Given the description of an element on the screen output the (x, y) to click on. 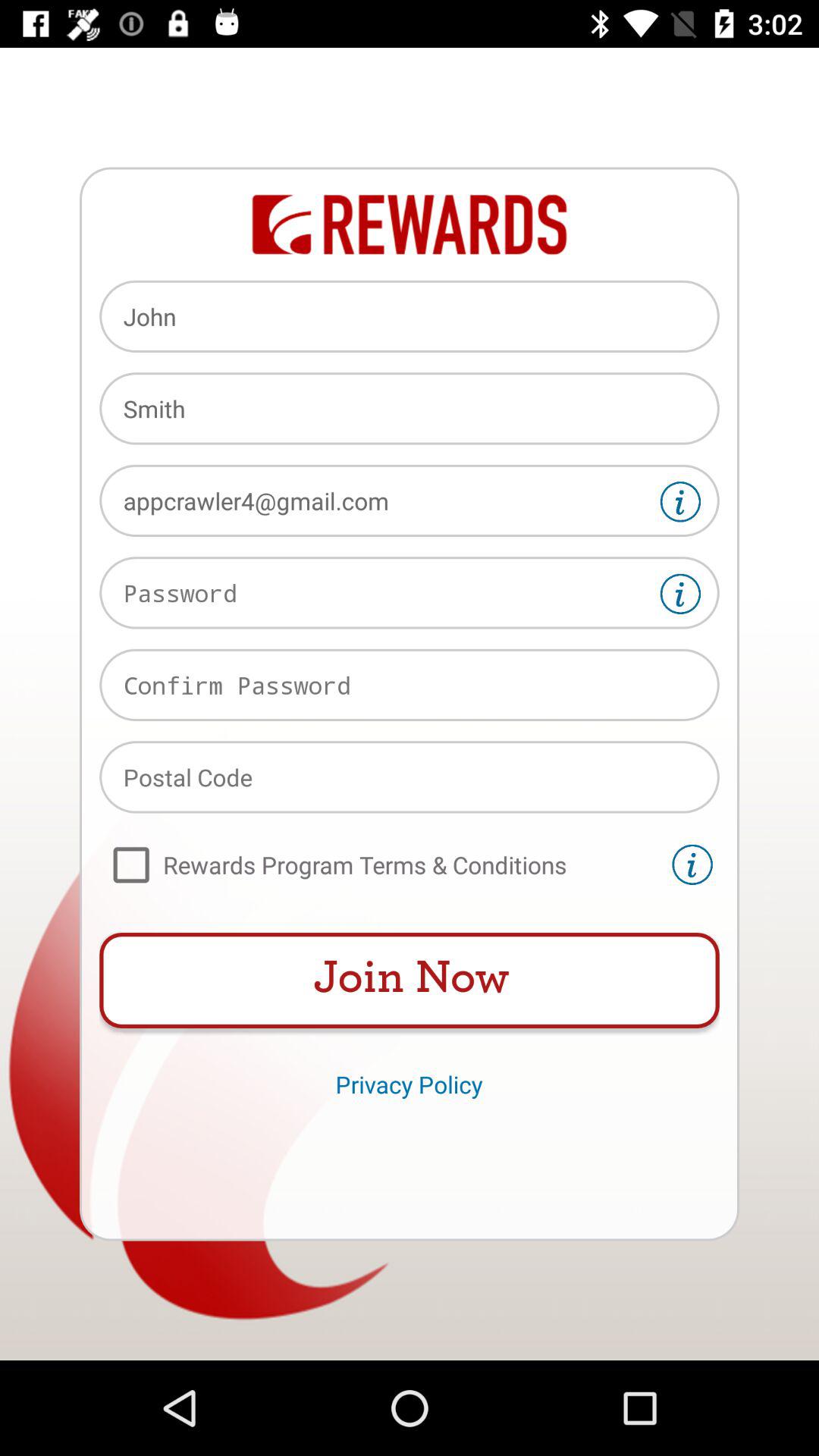
jump to the privacy policy item (408, 1084)
